Given the description of an element on the screen output the (x, y) to click on. 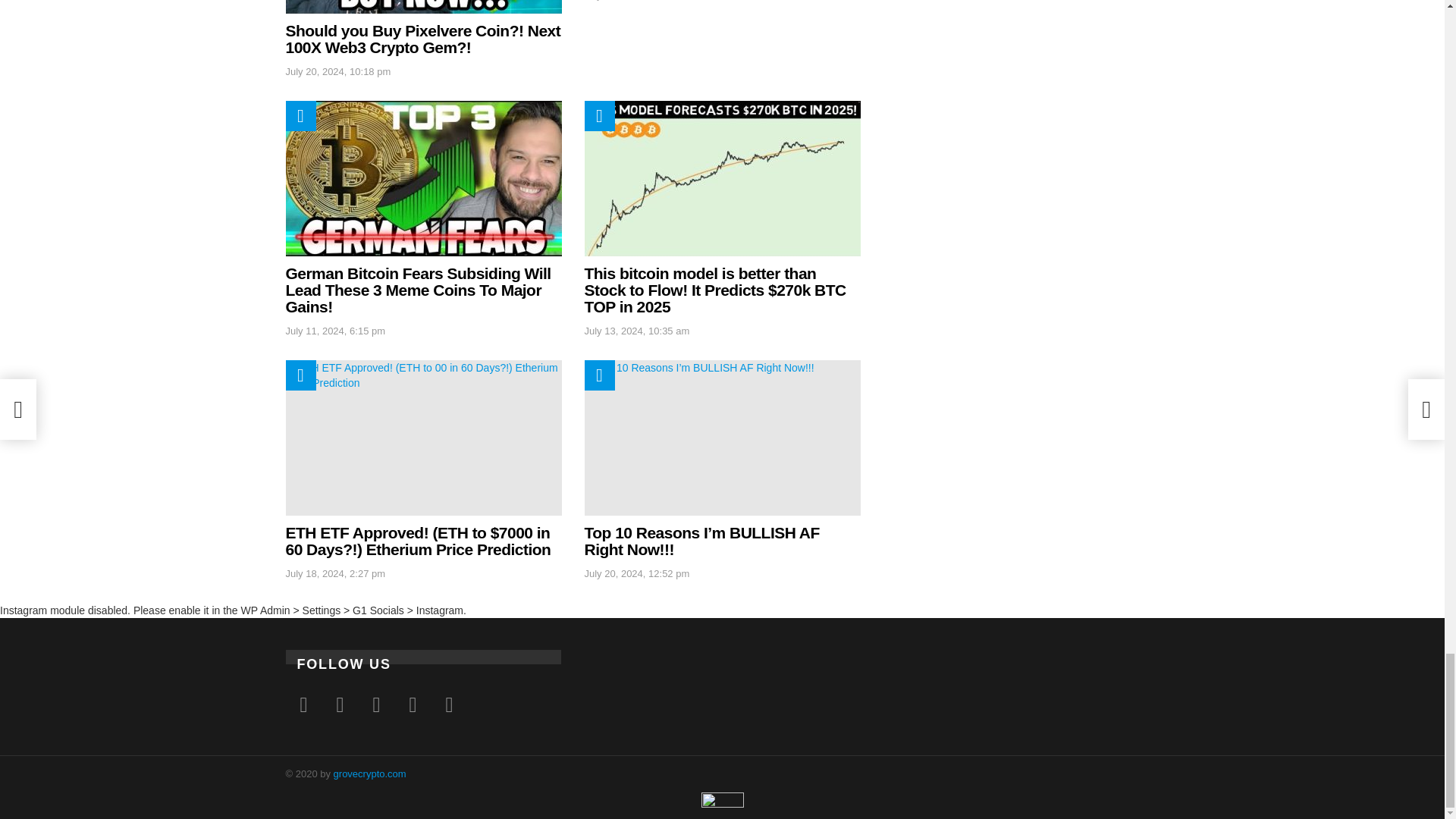
Hot (598, 115)
Should you Buy Pixelvere Coin?! Next 100X Web3 Crypto Gem?! (422, 6)
Hot (300, 115)
